Given the description of an element on the screen output the (x, y) to click on. 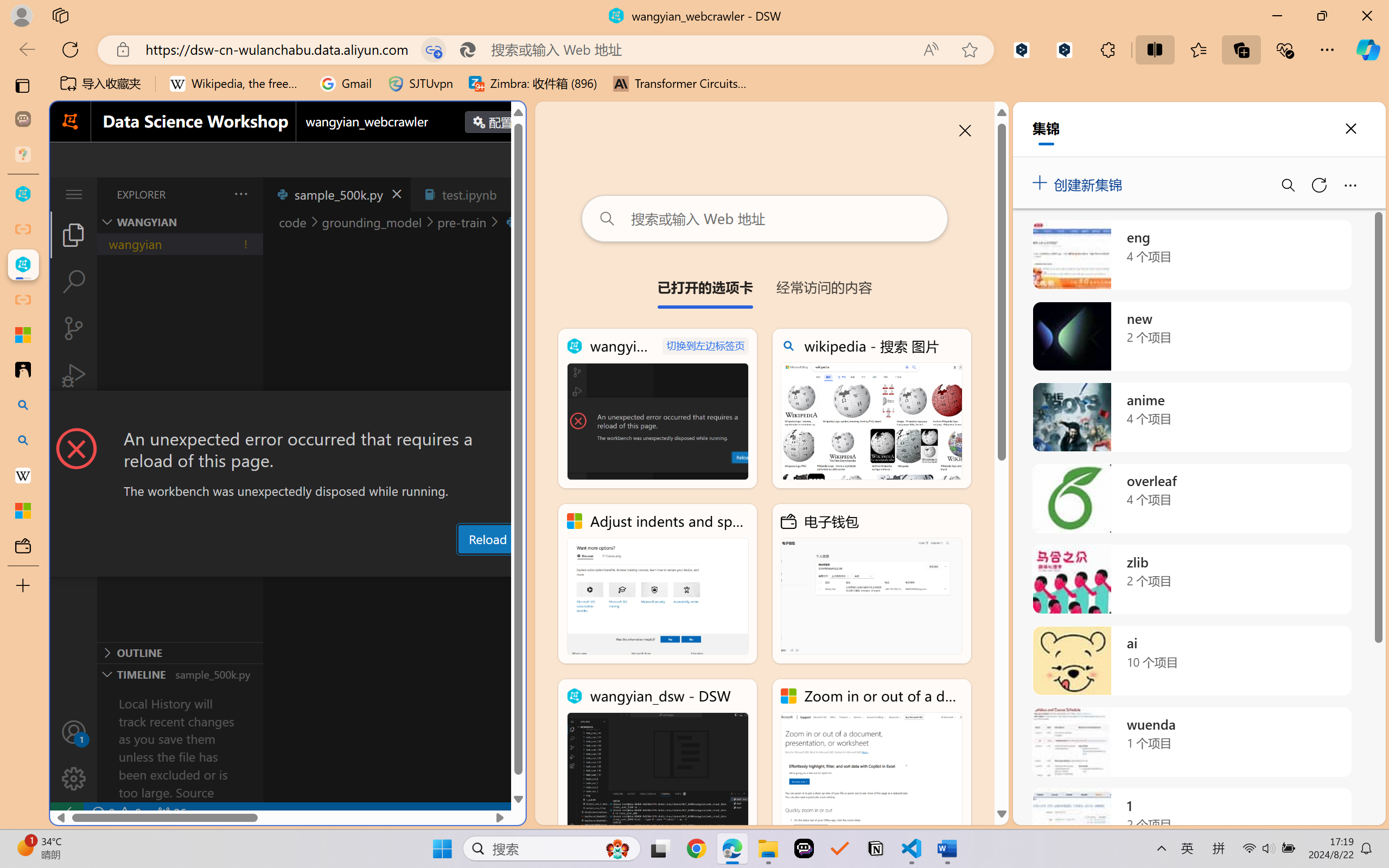
Extensions (Ctrl+Shift+X) (73, 422)
Tab actions (512, 194)
remote (66, 812)
Close Dialog (520, 410)
Run and Debug (Ctrl+Shift+D) (73, 375)
